Given the description of an element on the screen output the (x, y) to click on. 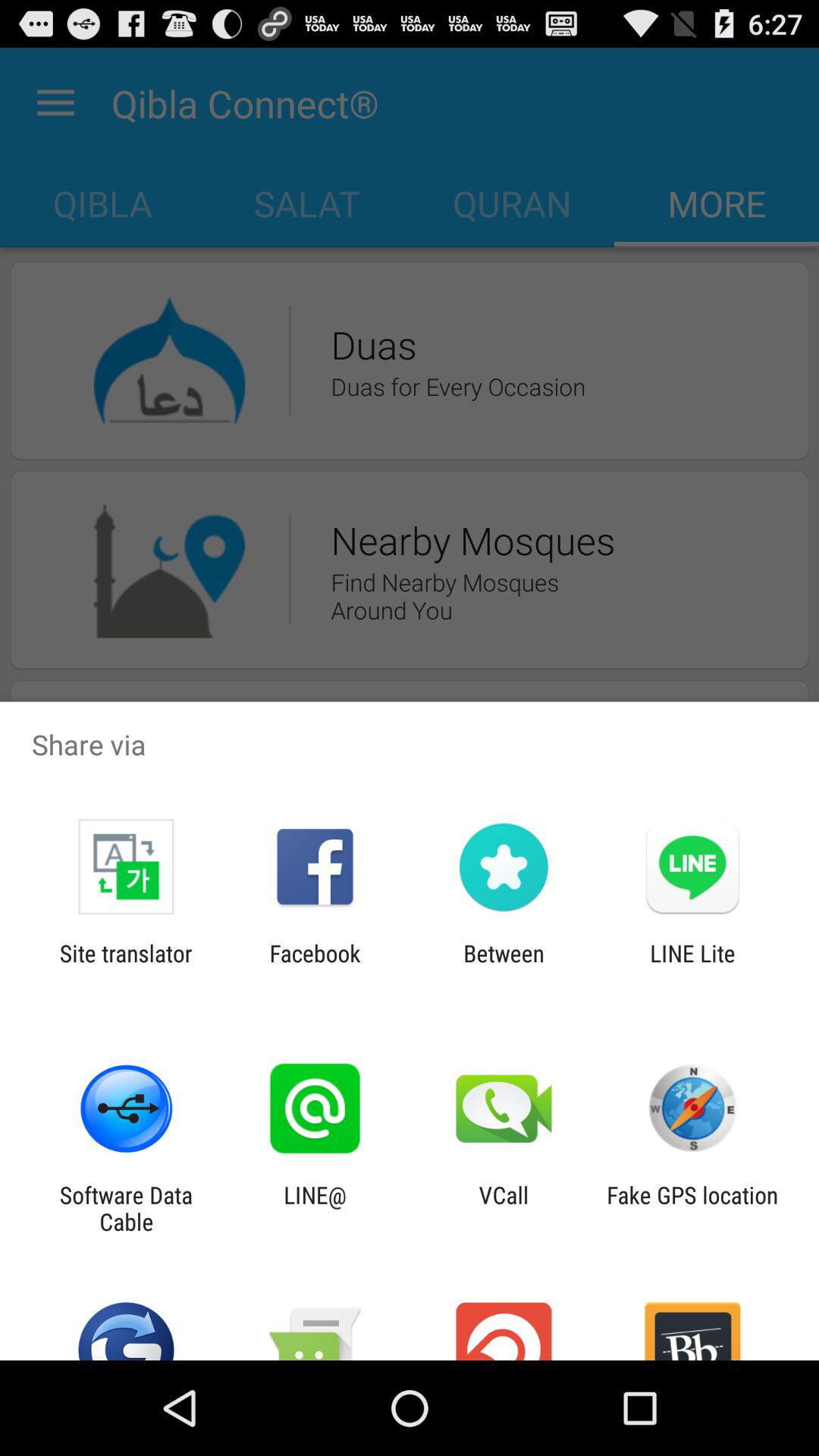
launch app to the left of facebook (125, 966)
